Given the description of an element on the screen output the (x, y) to click on. 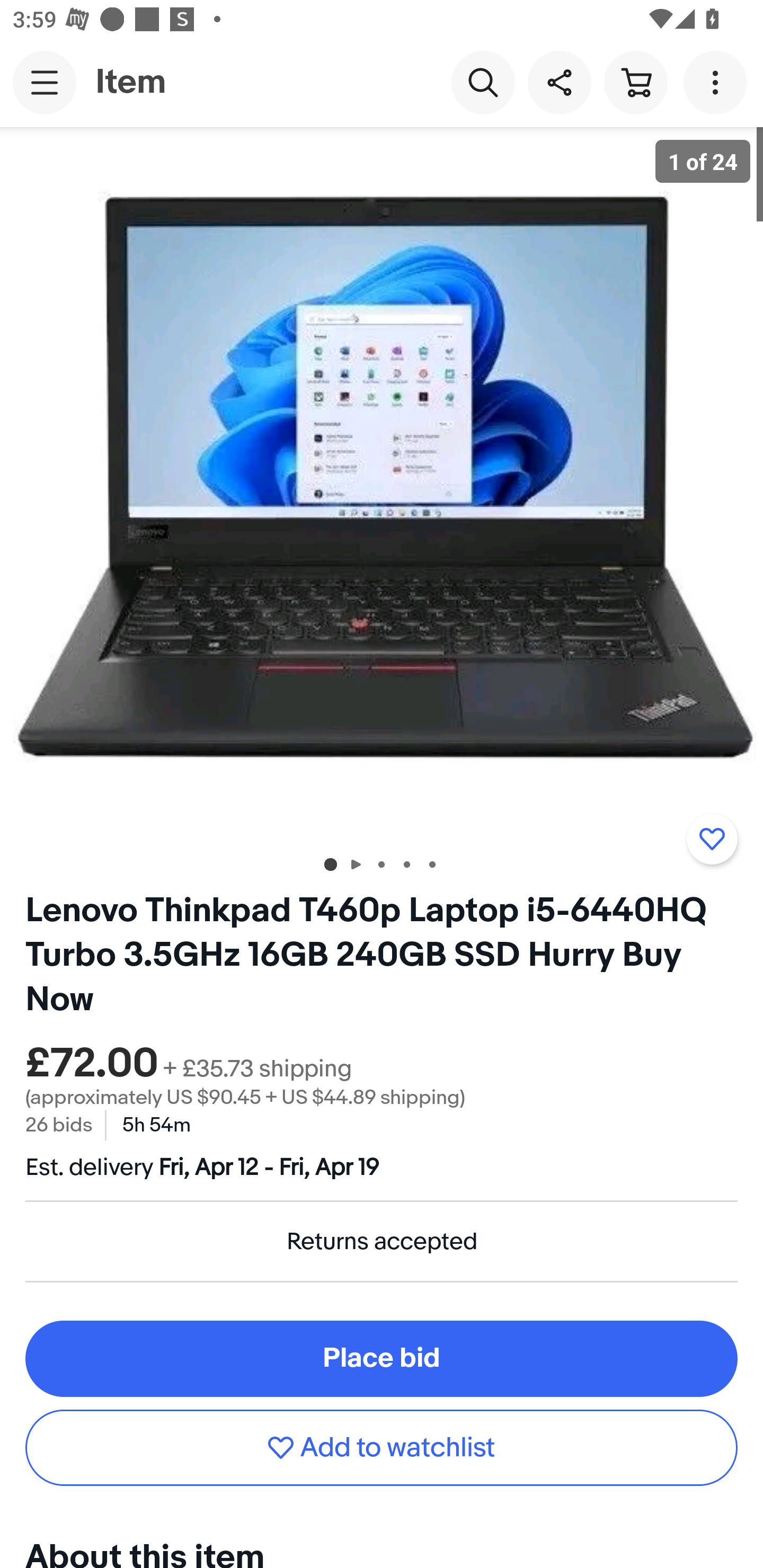
Main navigation, open (44, 82)
Search (482, 81)
Share this item (559, 81)
Cart button shopping cart (635, 81)
More options (718, 81)
Item image 1 of 24 (381, 482)
Add to watchlist (711, 838)
Place bid (381, 1358)
Add to watchlist (381, 1447)
